Given the description of an element on the screen output the (x, y) to click on. 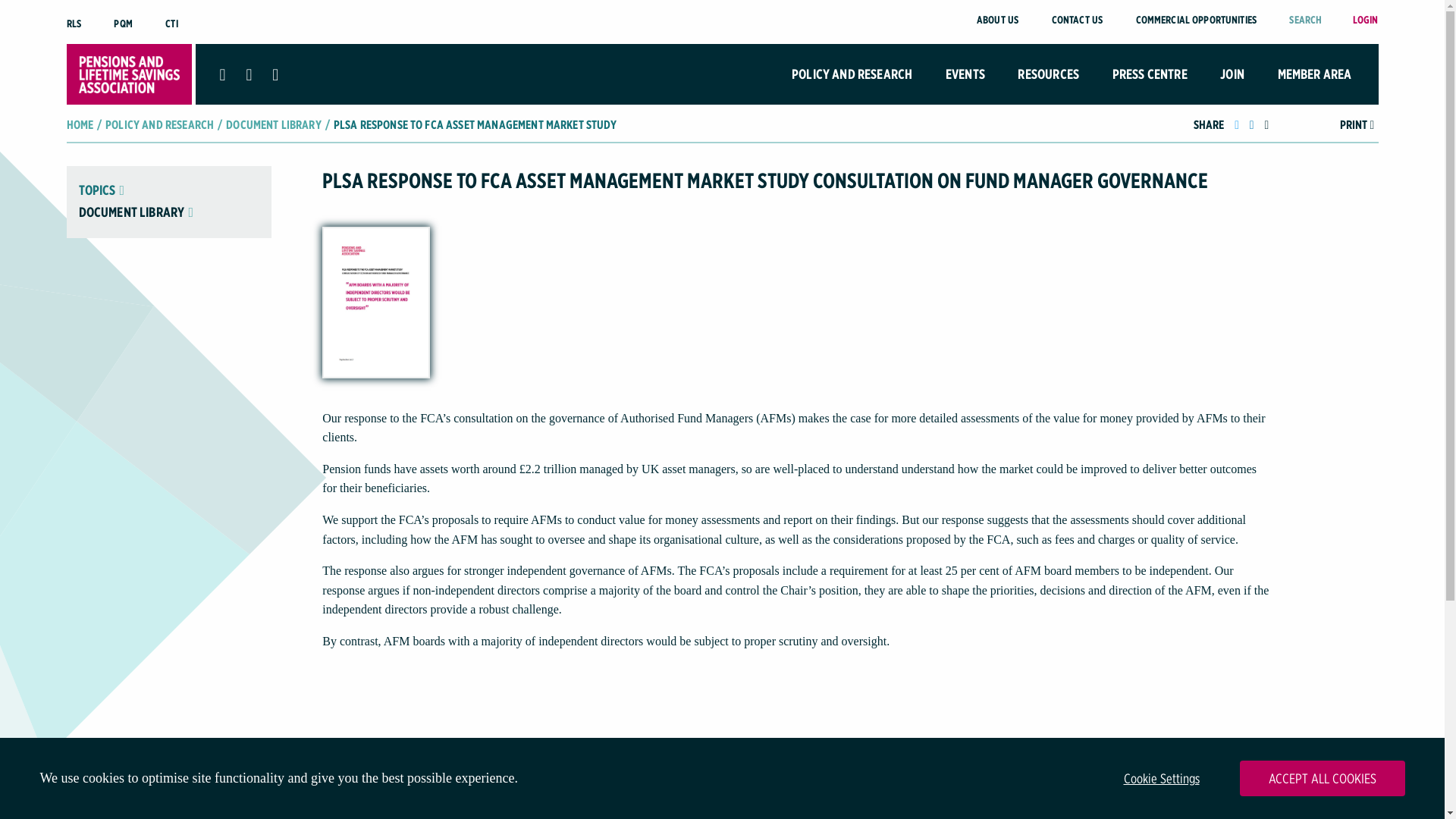
ACCEPT ALL COOKIES (1322, 778)
Cookie Settings (1161, 778)
